Given the description of an element on the screen output the (x, y) to click on. 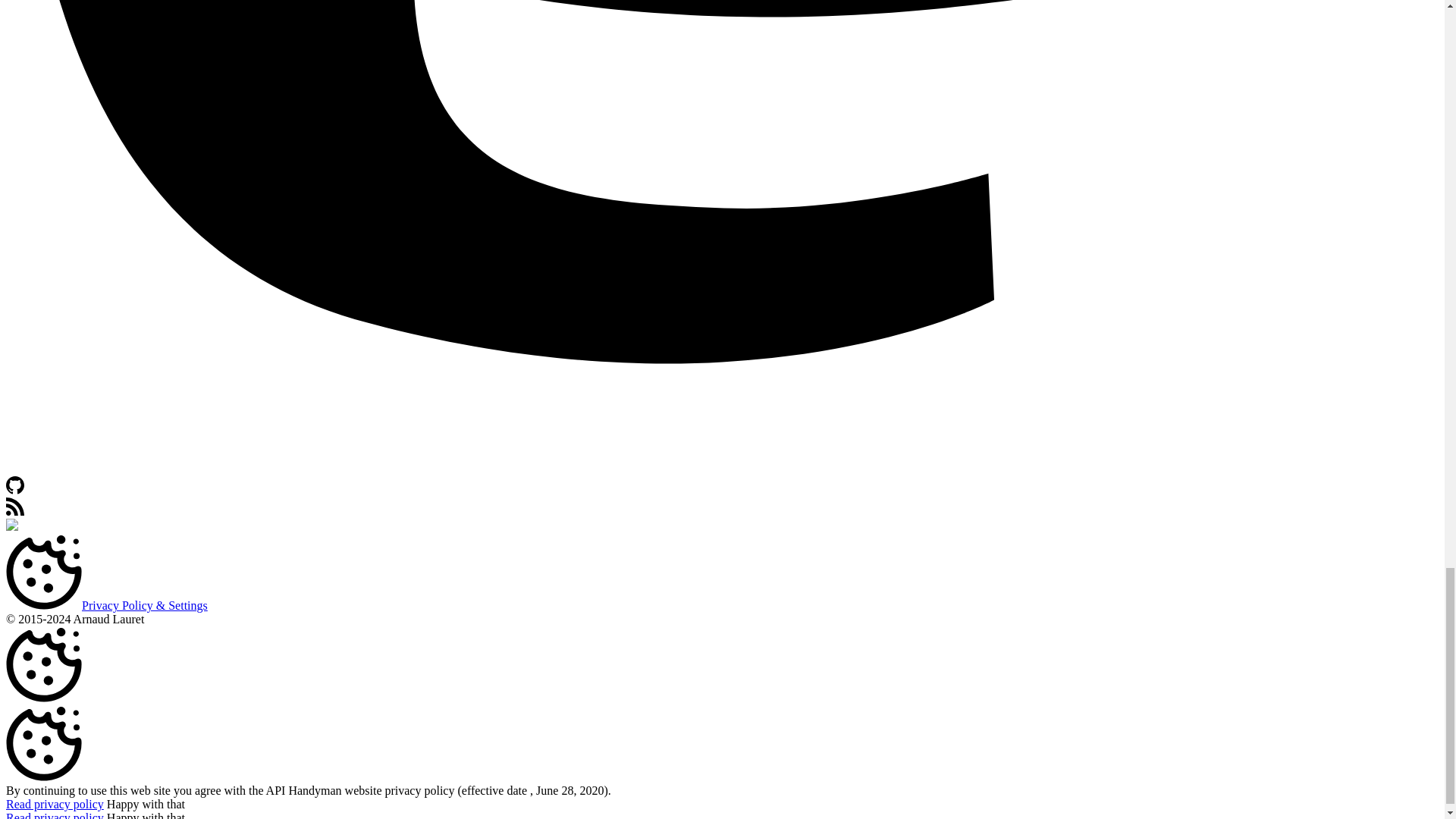
Happy with that (145, 803)
Read privacy policy (54, 803)
